Given the description of an element on the screen output the (x, y) to click on. 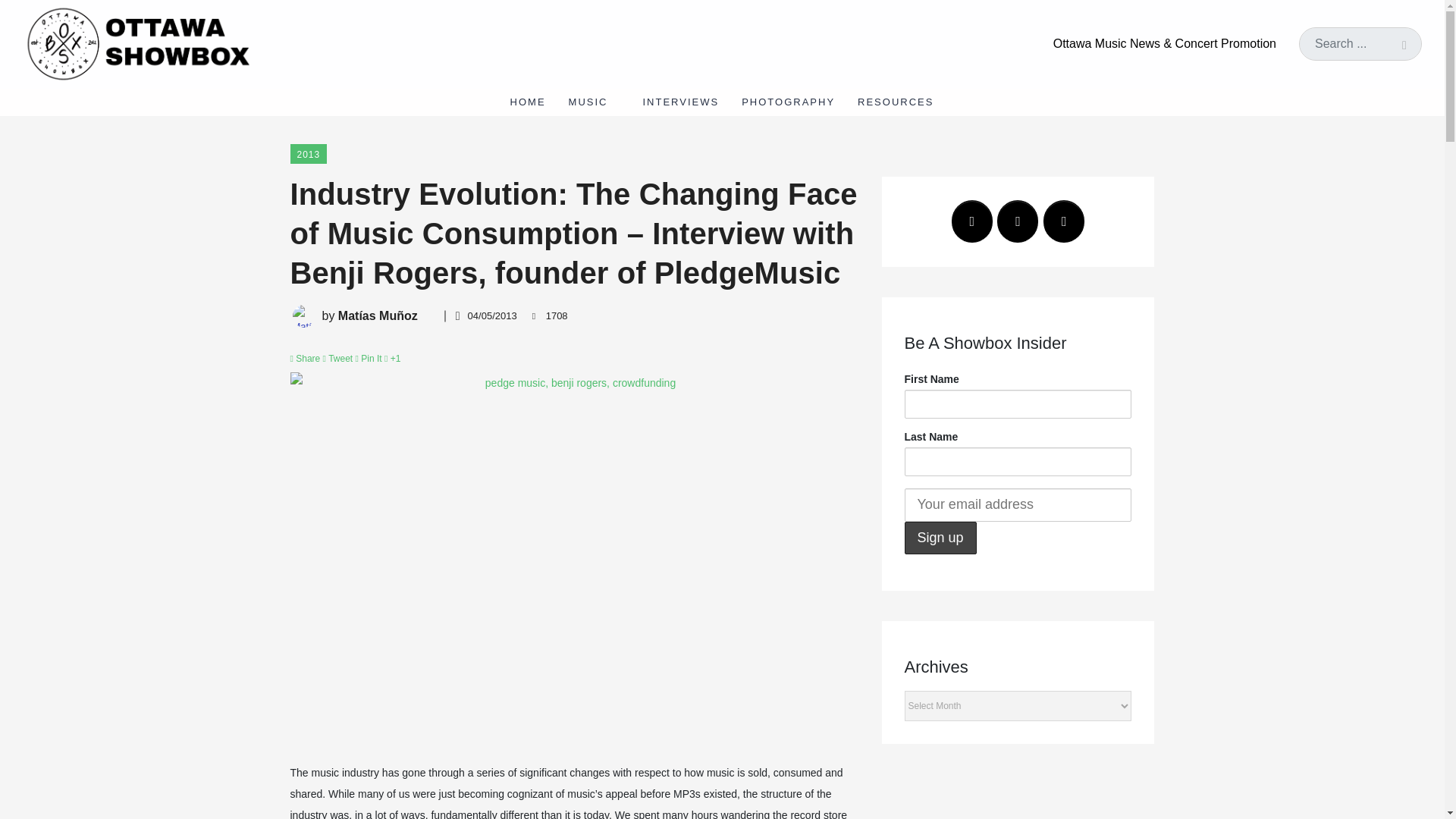
Ottawa Showbox on Facebook (972, 220)
PHOTOGRAPHY (787, 102)
2013 (307, 153)
INTERVIEWS (680, 102)
Ottawa Showbox on Instagram (1063, 220)
HOME (528, 102)
MUSIC (594, 102)
Ottawa Showbox on Twitter (1017, 220)
RESOURCES (900, 102)
ottawa showbox (136, 42)
